Given the description of an element on the screen output the (x, y) to click on. 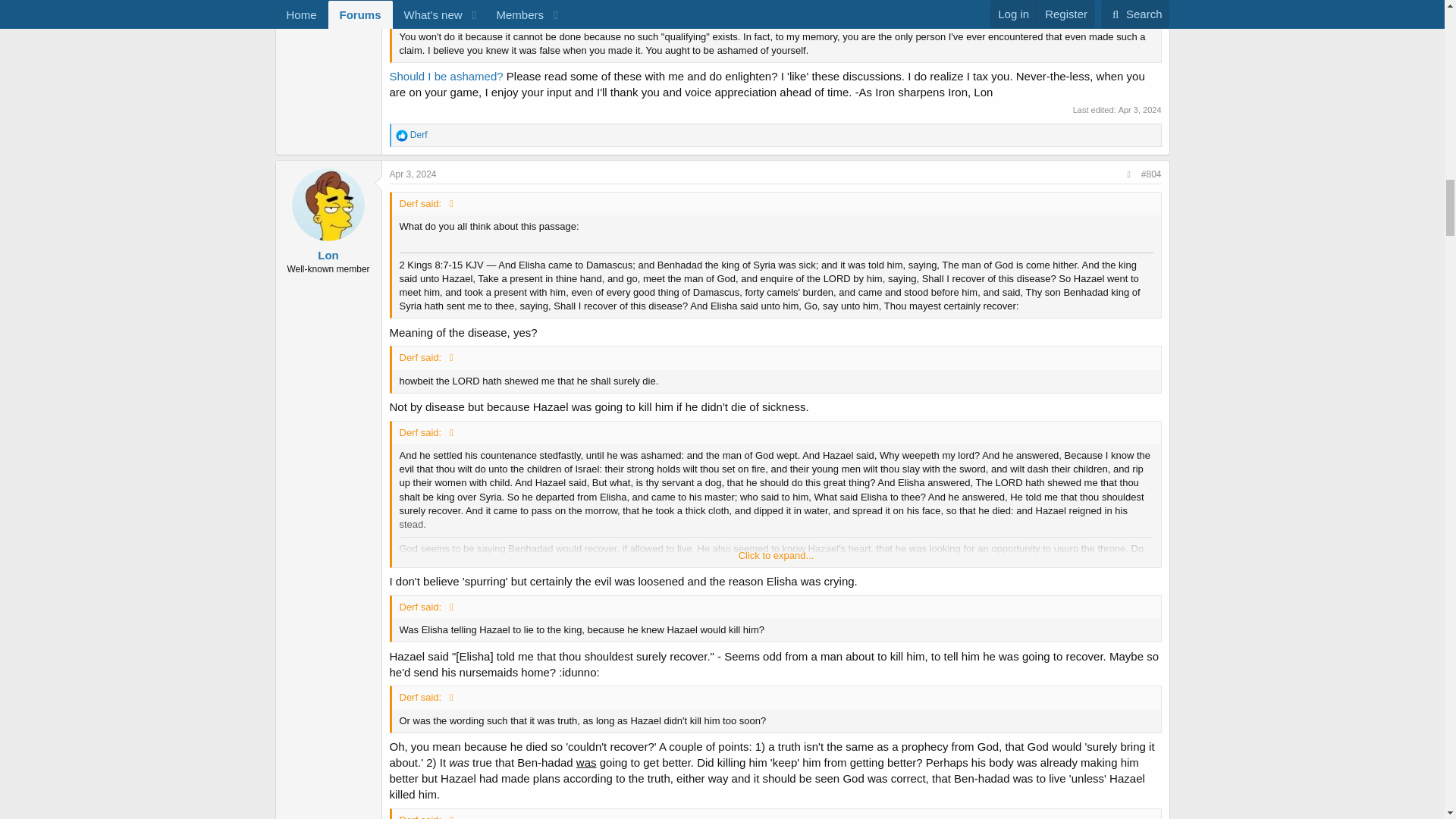
Like (401, 135)
Apr 3, 2024 at 12:33 AM (413, 173)
Apr 3, 2024 at 12:36 AM (1139, 109)
